Given the description of an element on the screen output the (x, y) to click on. 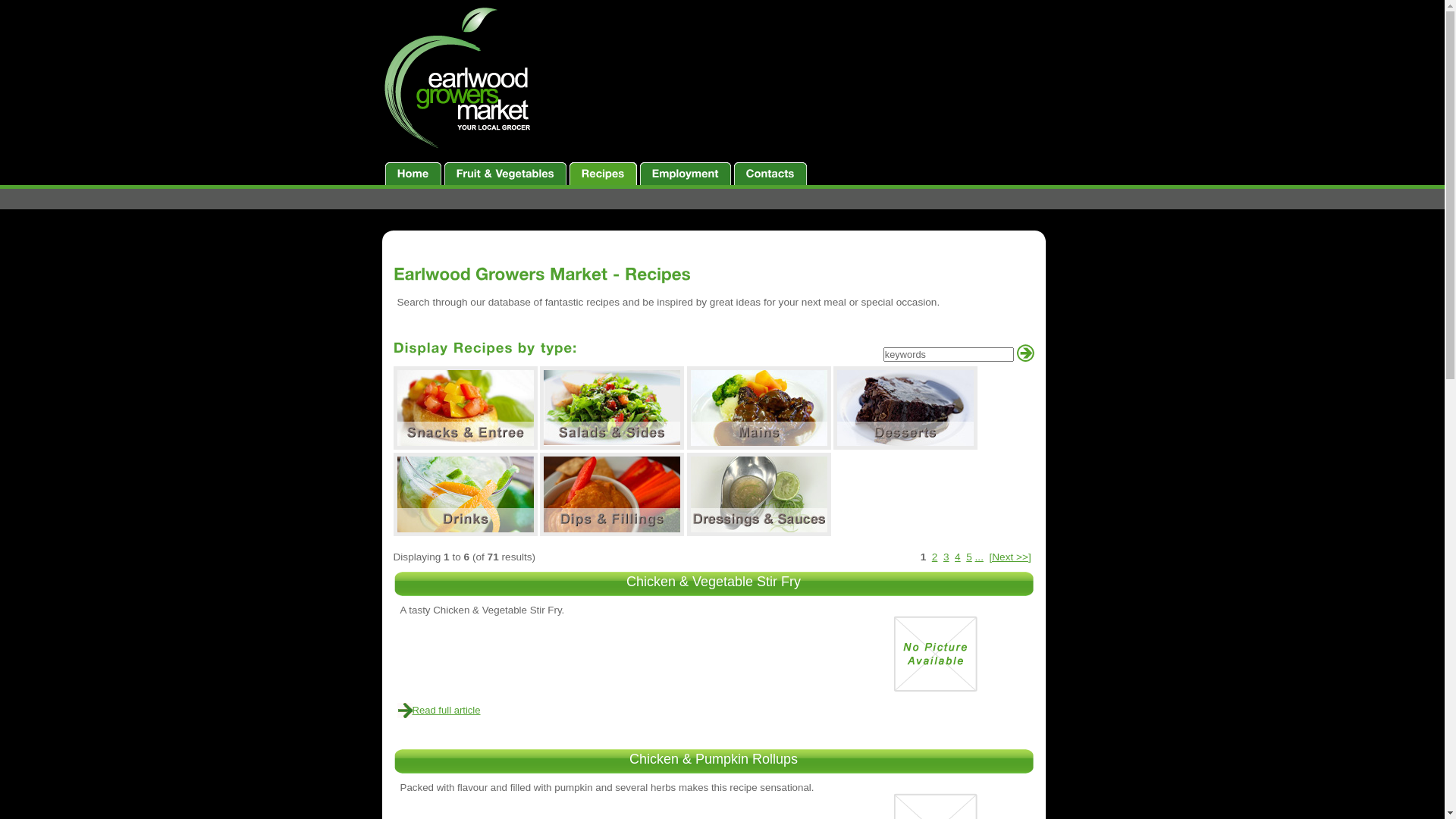
 Salads and Sides  Element type: hover (611, 407)
Earlwood Growers Market Your Local Grocer Element type: hover (459, 78)
3 Element type: text (946, 556)
 Dips and Fillings  Element type: hover (611, 494)
   Element type: hover (464, 407)
 Desserts  Element type: hover (905, 407)
[Next >>] Element type: text (1009, 556)
... Element type: text (979, 556)
 Drinks  Element type: hover (464, 494)
Chicken & Vegetable Stir Fry Element type: text (713, 581)
 Search  Element type: hover (1024, 352)
Read full article Element type: text (446, 709)
 Dressings and Sauces  Element type: hover (759, 494)
4 Element type: text (957, 556)
2 Element type: text (934, 556)
Chicken & Pumpkin Rollups Element type: text (713, 758)
5 Element type: text (969, 556)
 Main  Element type: hover (759, 407)
